Given the description of an element on the screen output the (x, y) to click on. 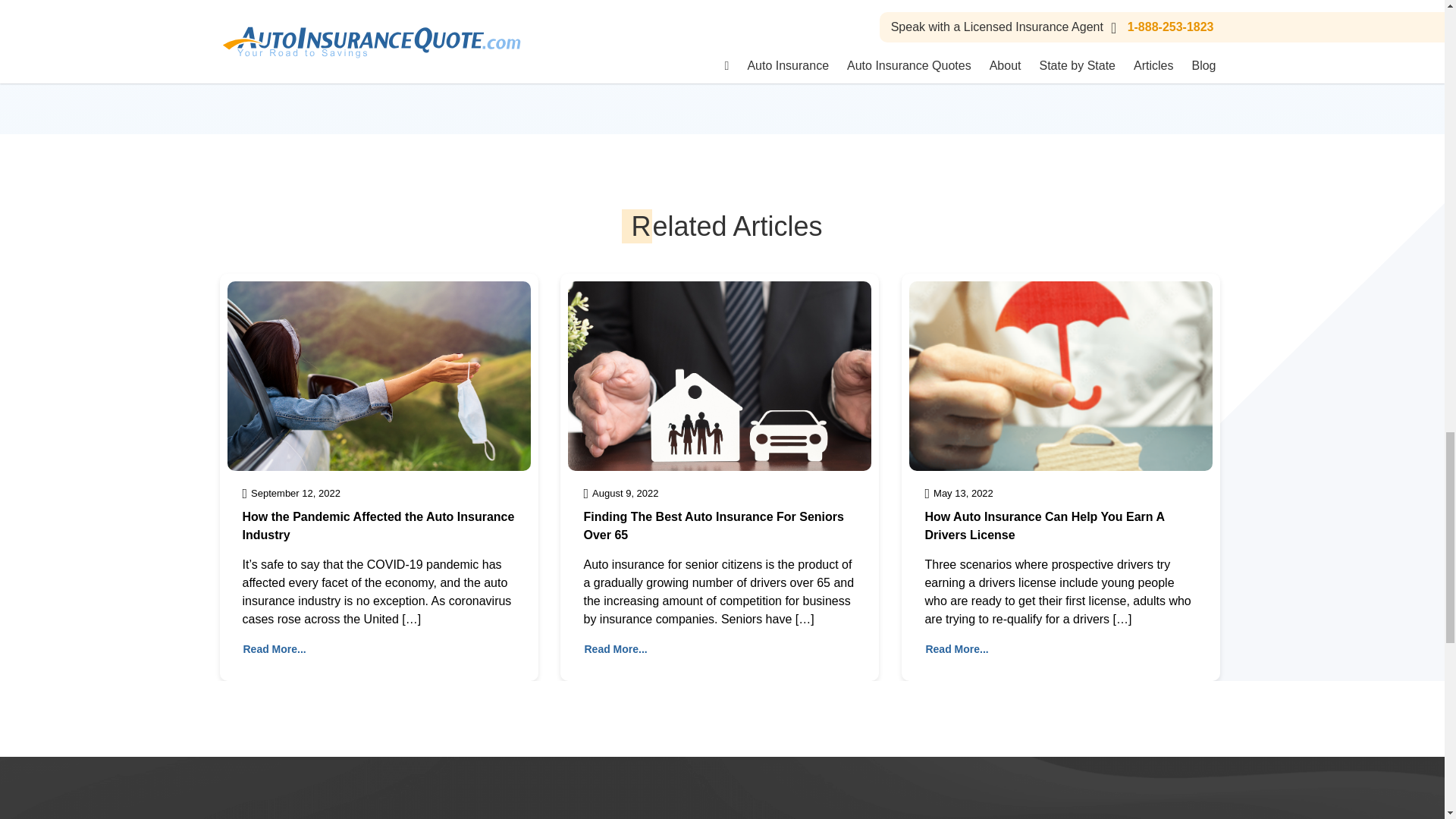
Read More... (275, 649)
Read More... (956, 649)
Read More... (615, 649)
